Given the description of an element on the screen output the (x, y) to click on. 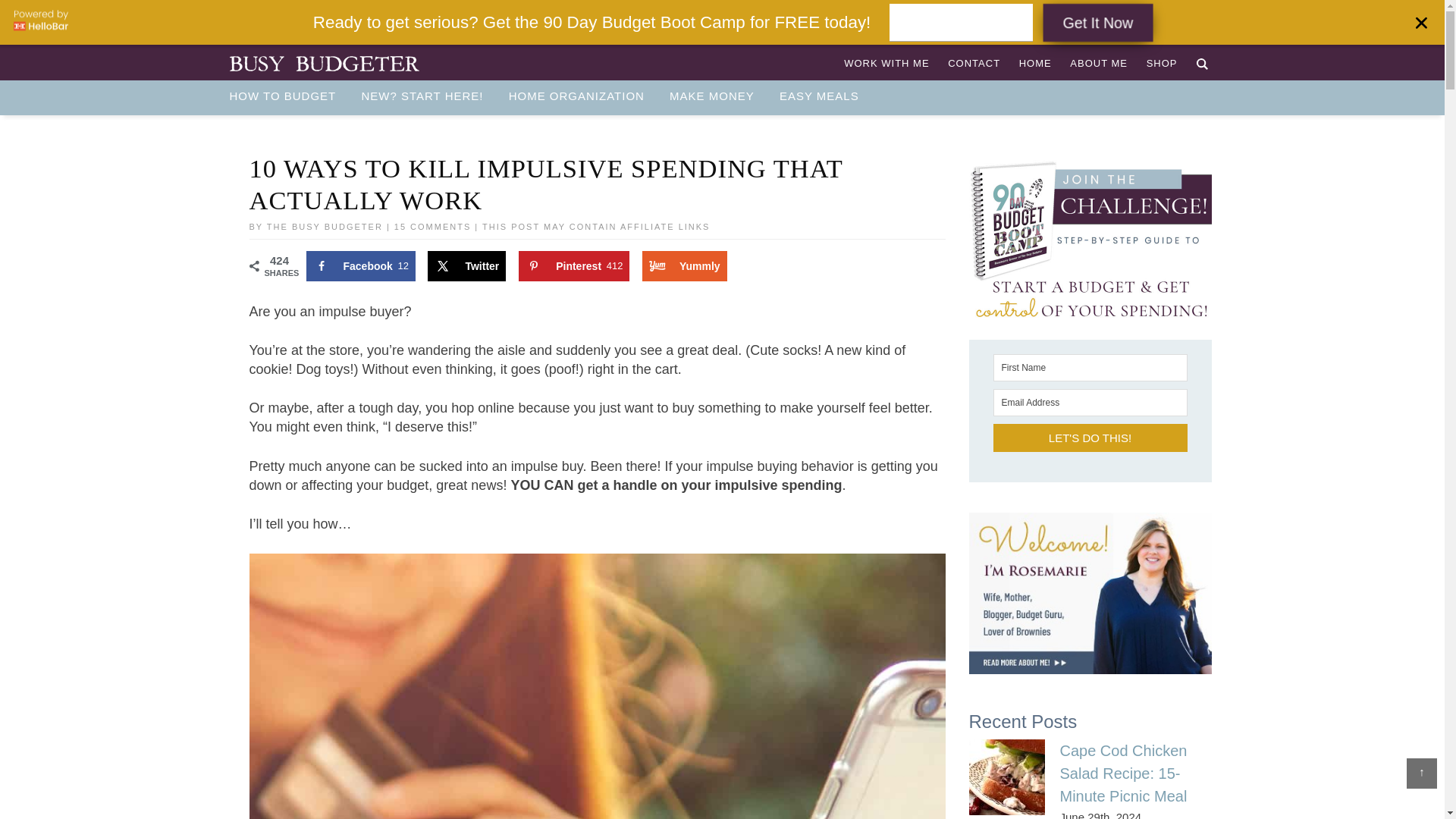
SHOP (1161, 62)
HOW TO BUDGET (287, 95)
NEW? START HERE! (421, 95)
CONTACT (973, 62)
ABOUT ME (1098, 62)
HOME ORGANIZATION (576, 95)
THE BUSY BUDGETER (323, 63)
Share on Facebook (359, 265)
HOME (1035, 62)
Cape Cod Chicken Salad Recipe: 15-Minute Picnic Meal (1007, 778)
WORK WITH ME (885, 62)
Share on X (466, 265)
Save to Pinterest (573, 265)
Cape Cod Chicken Salad Recipe: 15-Minute Picnic Meal (1123, 773)
Share on Yummly (684, 265)
